Given the description of an element on the screen output the (x, y) to click on. 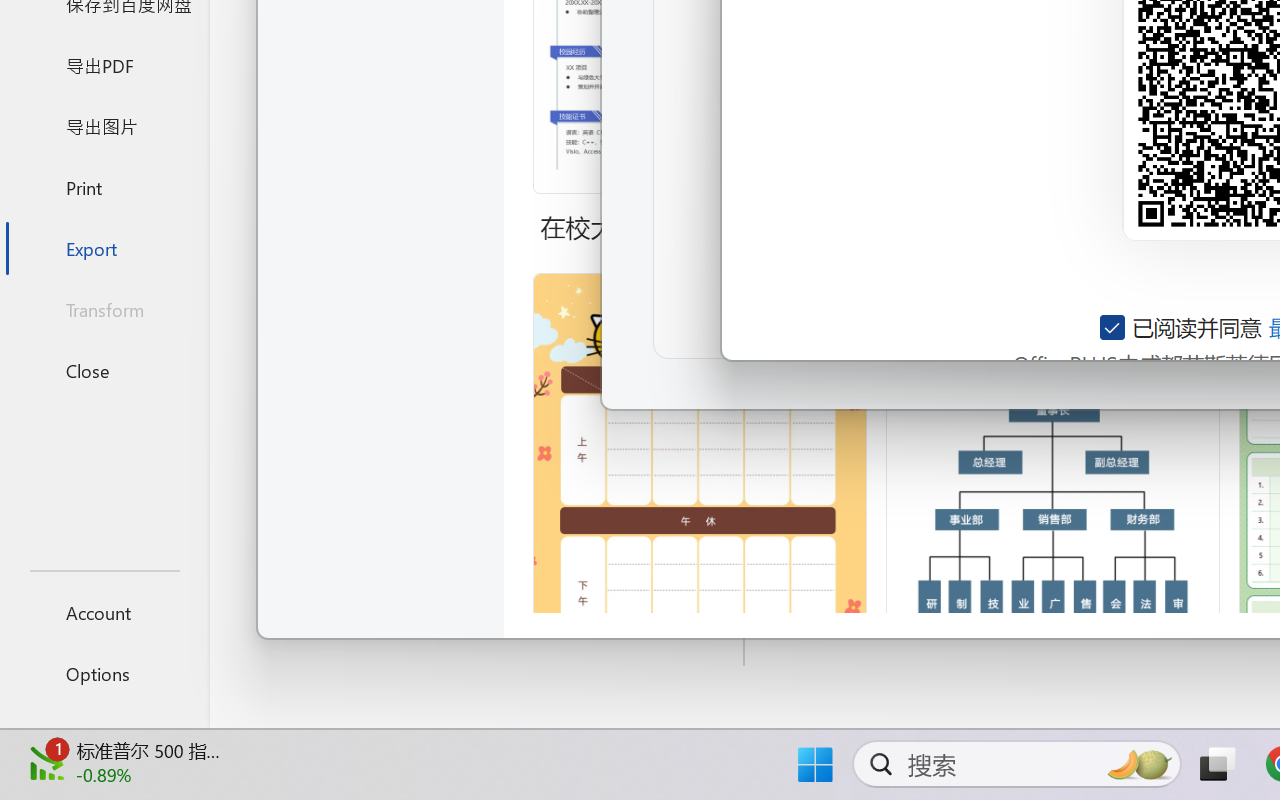
Options (104, 673)
